Given the description of an element on the screen output the (x, y) to click on. 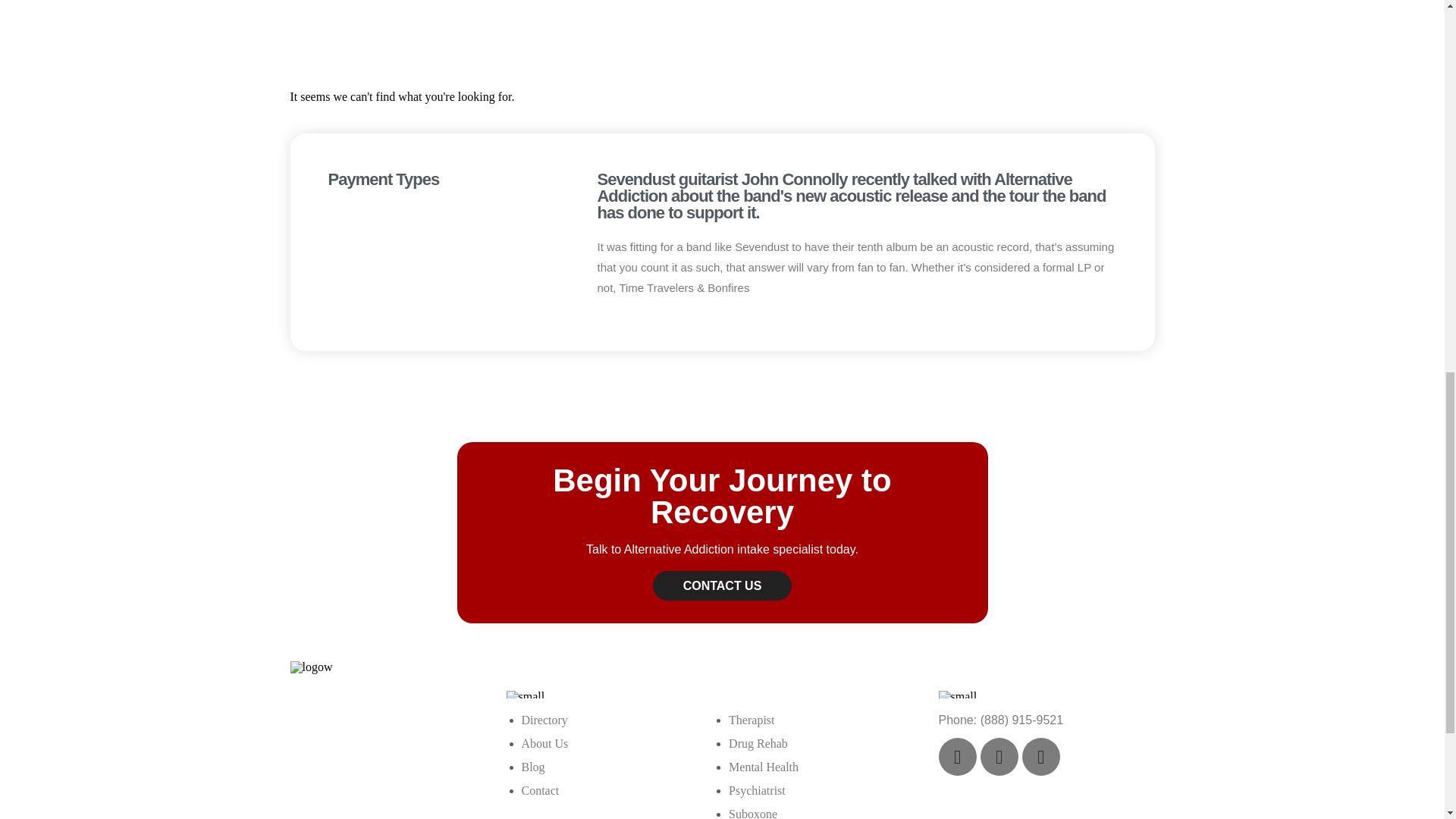
Drug Rehab (758, 743)
Blog (532, 766)
Contact (540, 789)
About Us (545, 743)
Mental Health (763, 766)
CONTACT US (722, 585)
It seems we can't find what you're looking for. (721, 96)
Suboxone (753, 813)
Therapist (751, 719)
Psychiatrist (757, 789)
Directory (544, 719)
